Given the description of an element on the screen output the (x, y) to click on. 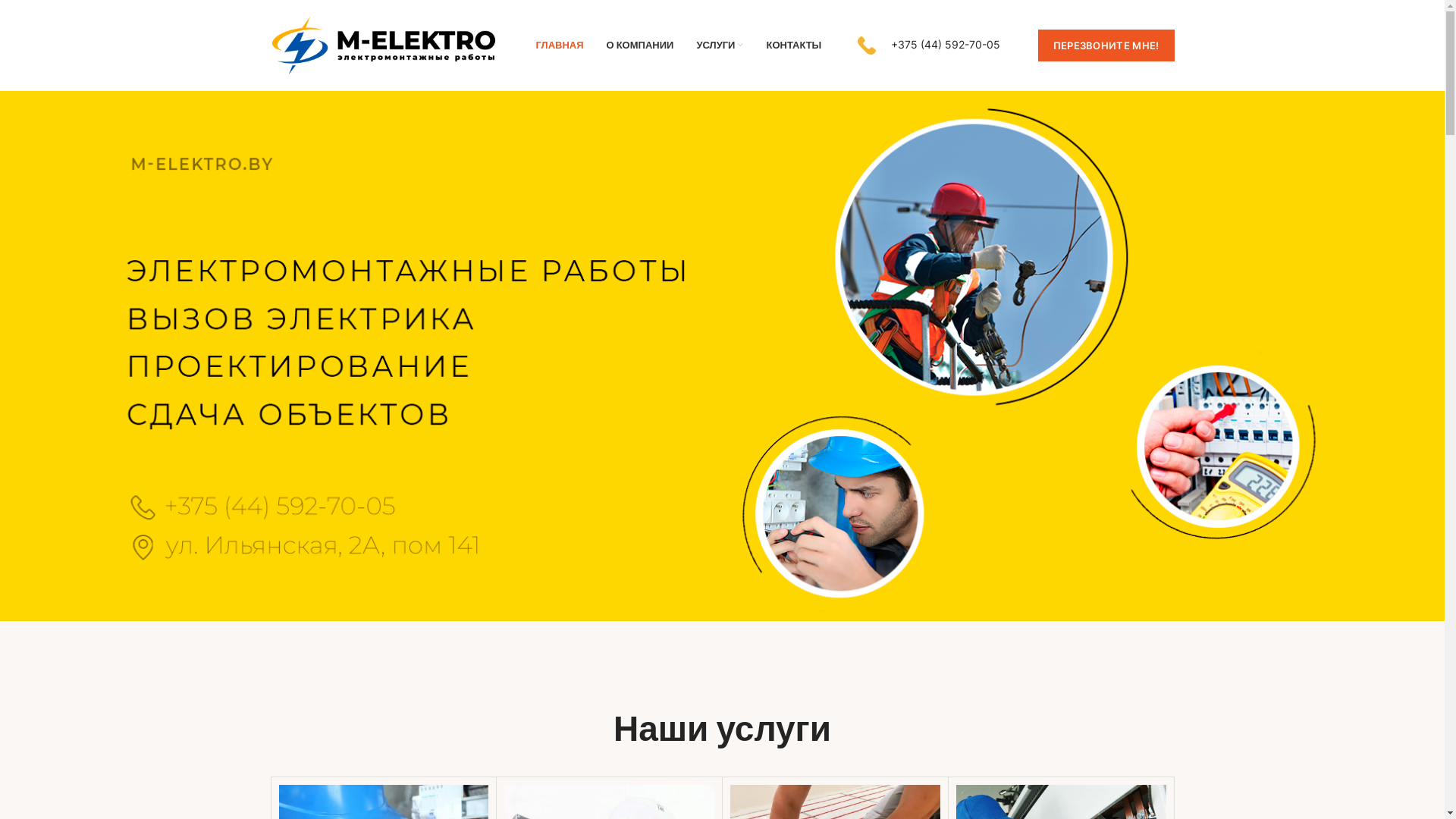
Banner22 Element type: hover (722, 356)
+375 (44) 592-70-05 Element type: text (928, 45)
